Given the description of an element on the screen output the (x, y) to click on. 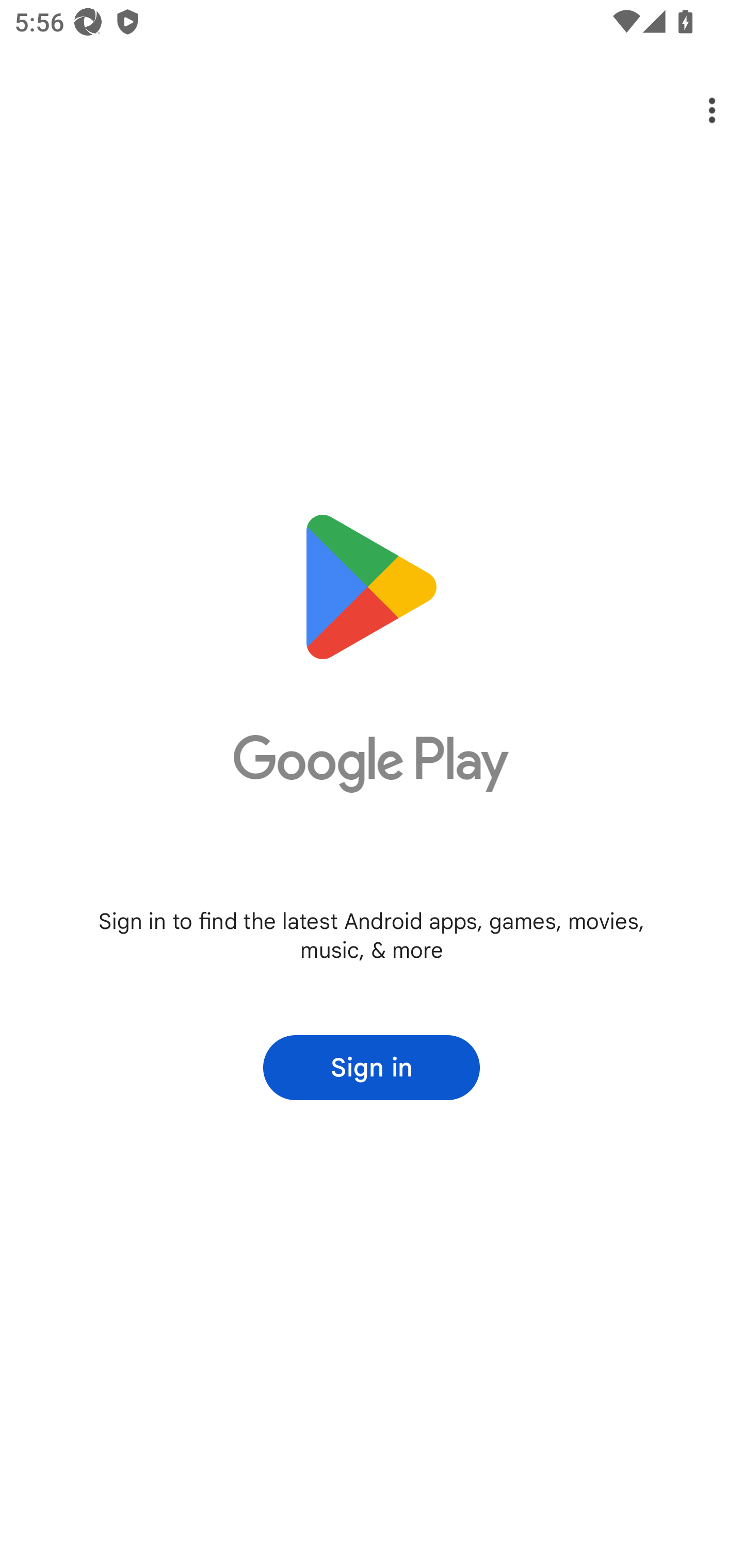
Options (697, 110)
Sign in (371, 1067)
